Given the description of an element on the screen output the (x, y) to click on. 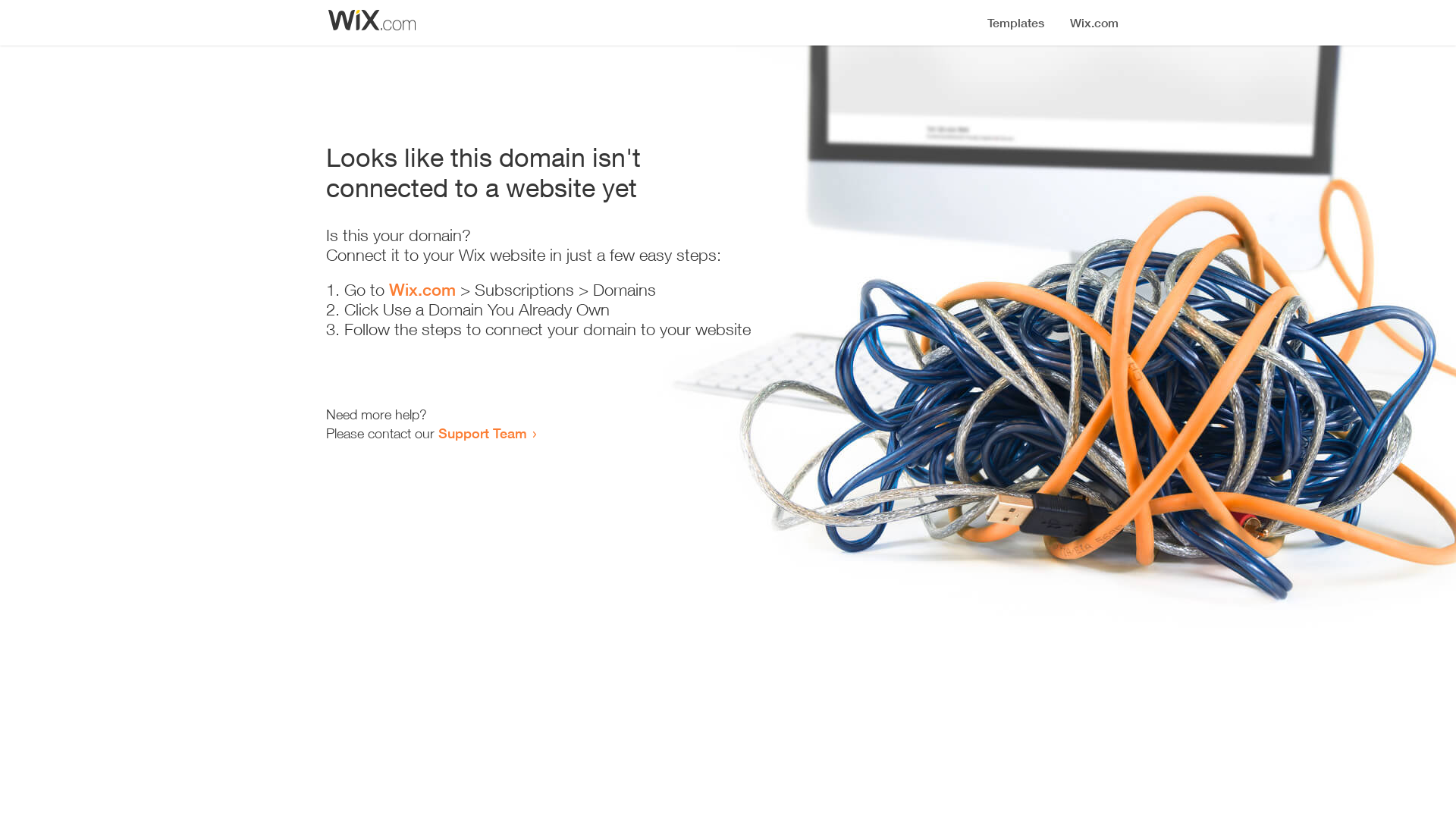
Wix.com Element type: text (422, 289)
Support Team Element type: text (482, 432)
